Given the description of an element on the screen output the (x, y) to click on. 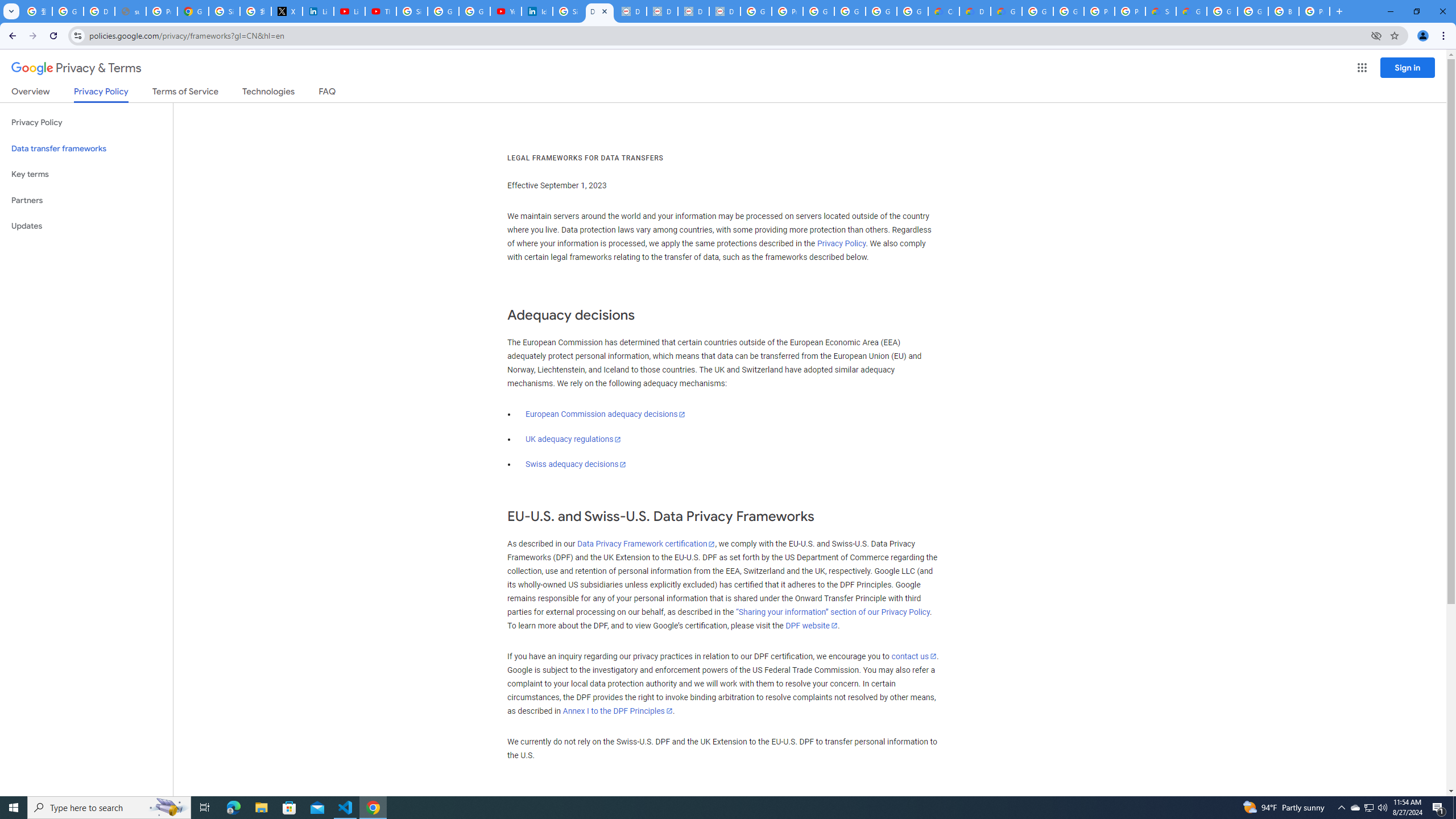
Data Privacy Framework certification (645, 543)
contact us (913, 656)
